Given the description of an element on the screen output the (x, y) to click on. 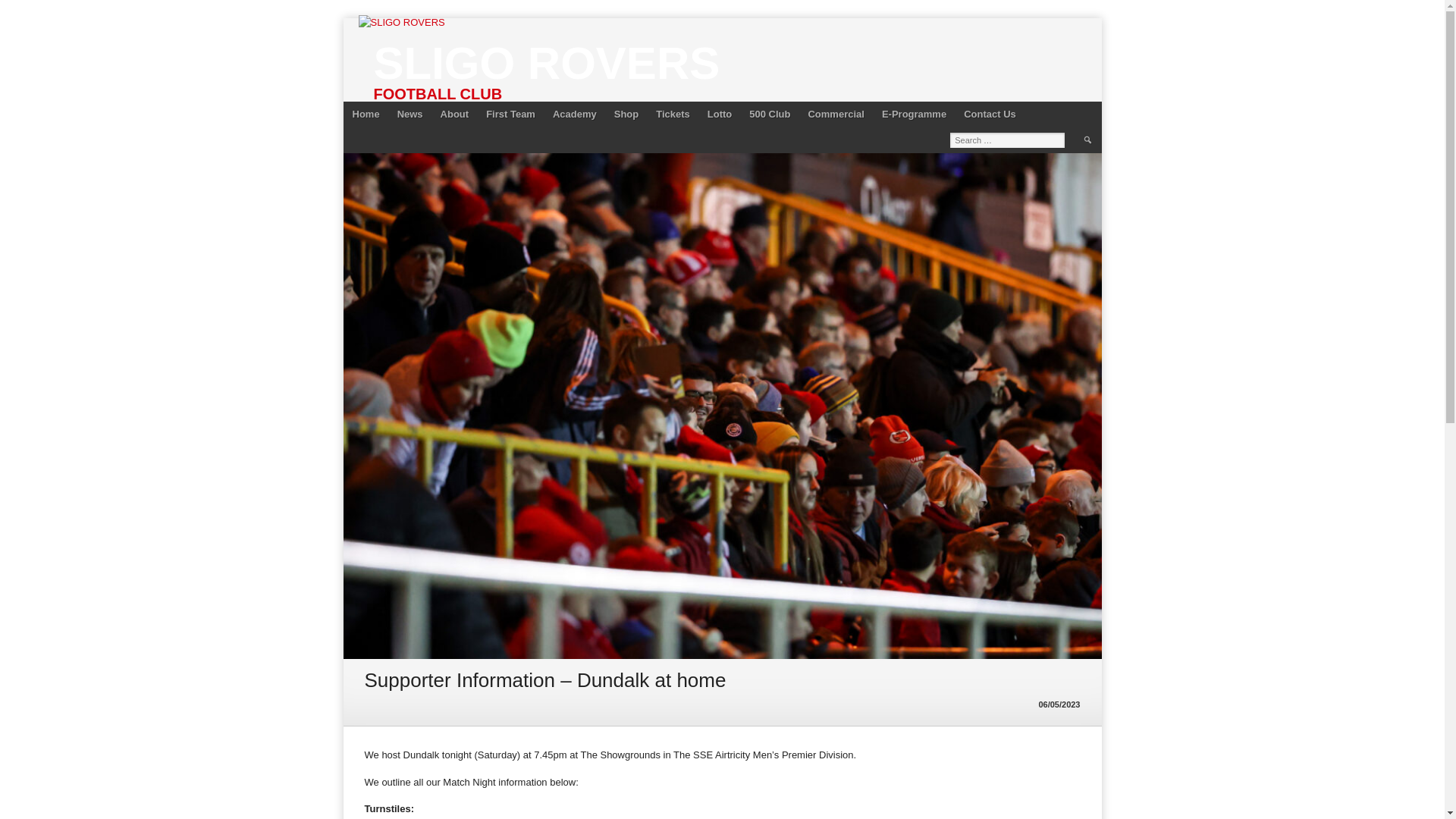
SLIGO ROVERS (545, 62)
Search (1088, 140)
About (454, 114)
News (410, 114)
Home (365, 114)
Academy (574, 114)
First Team (510, 114)
